Given the description of an element on the screen output the (x, y) to click on. 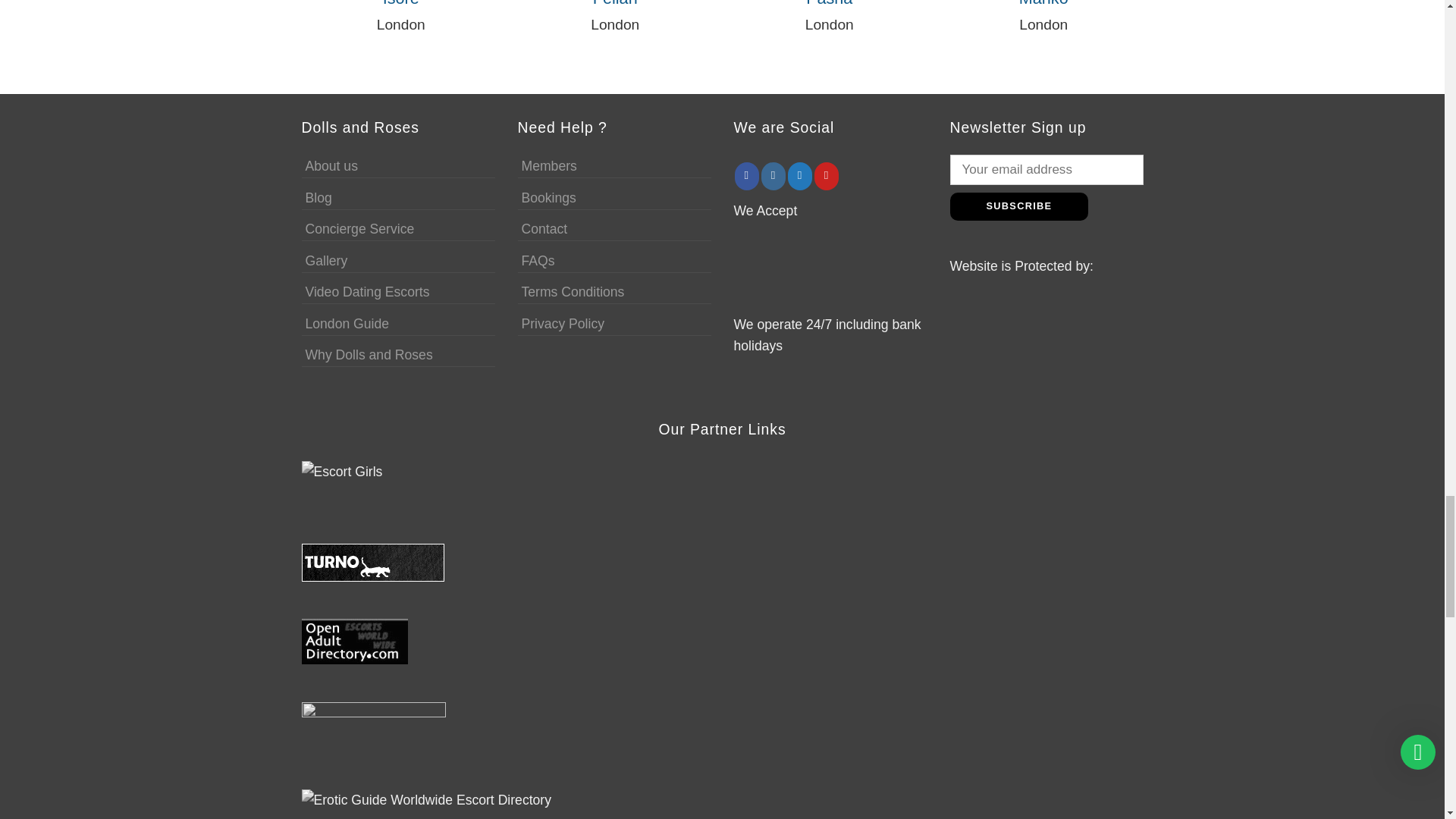
Subscribe (1018, 206)
Erotic Guide Worldwide Escort Directory (426, 799)
Escort Girls (348, 482)
London Escorts Directory (372, 561)
Erotic Guide Worldwide Escort Directory (426, 798)
